Given the description of an element on the screen output the (x, y) to click on. 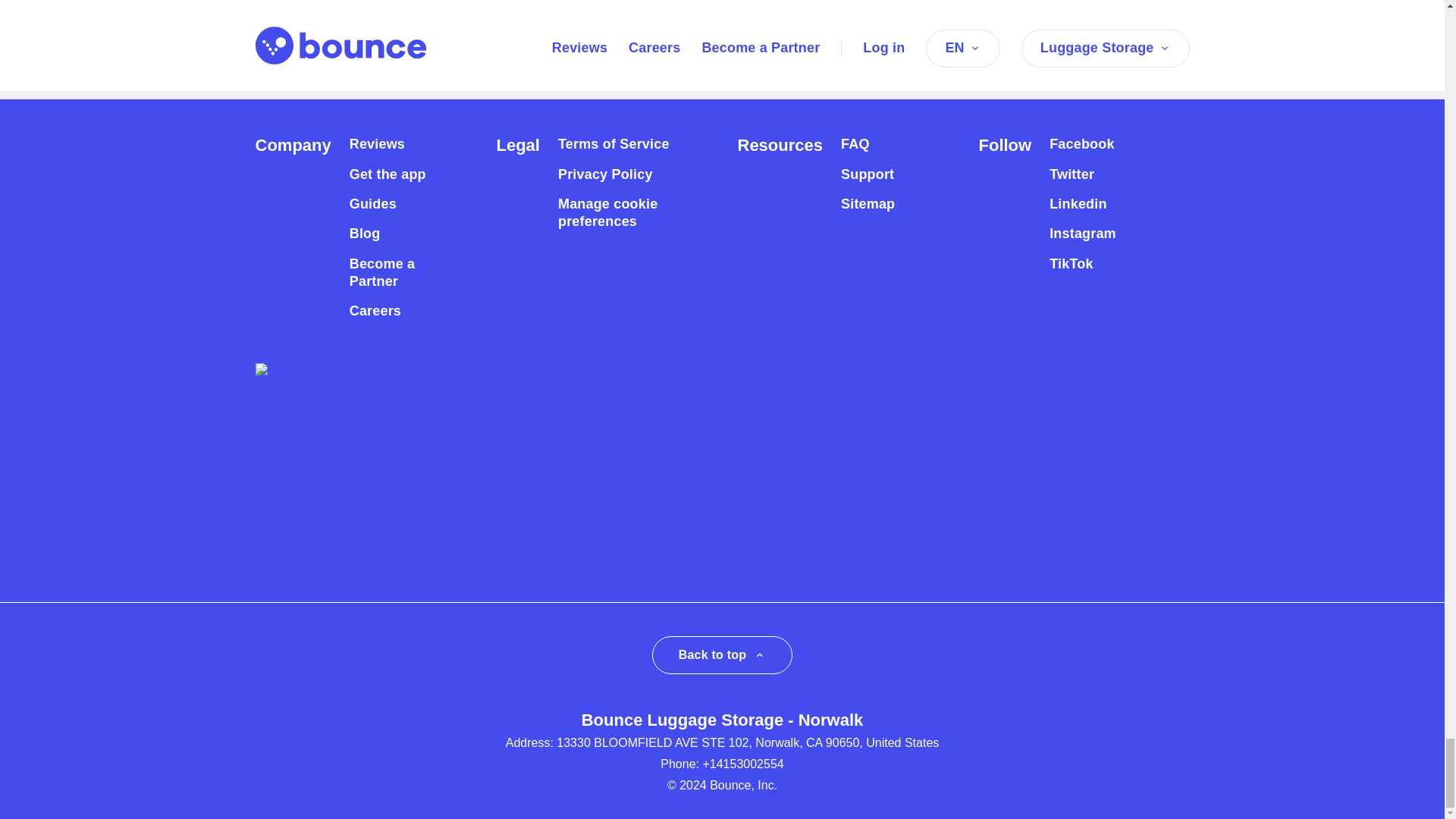
Terms of Service (613, 144)
Become a Partner (395, 273)
Blog (364, 233)
Careers (375, 311)
Bounce (279, 72)
Reviews (376, 144)
Luggage Storage (384, 72)
Guides (372, 203)
Get the app (387, 174)
Privacy Policy (604, 174)
